Given the description of an element on the screen output the (x, y) to click on. 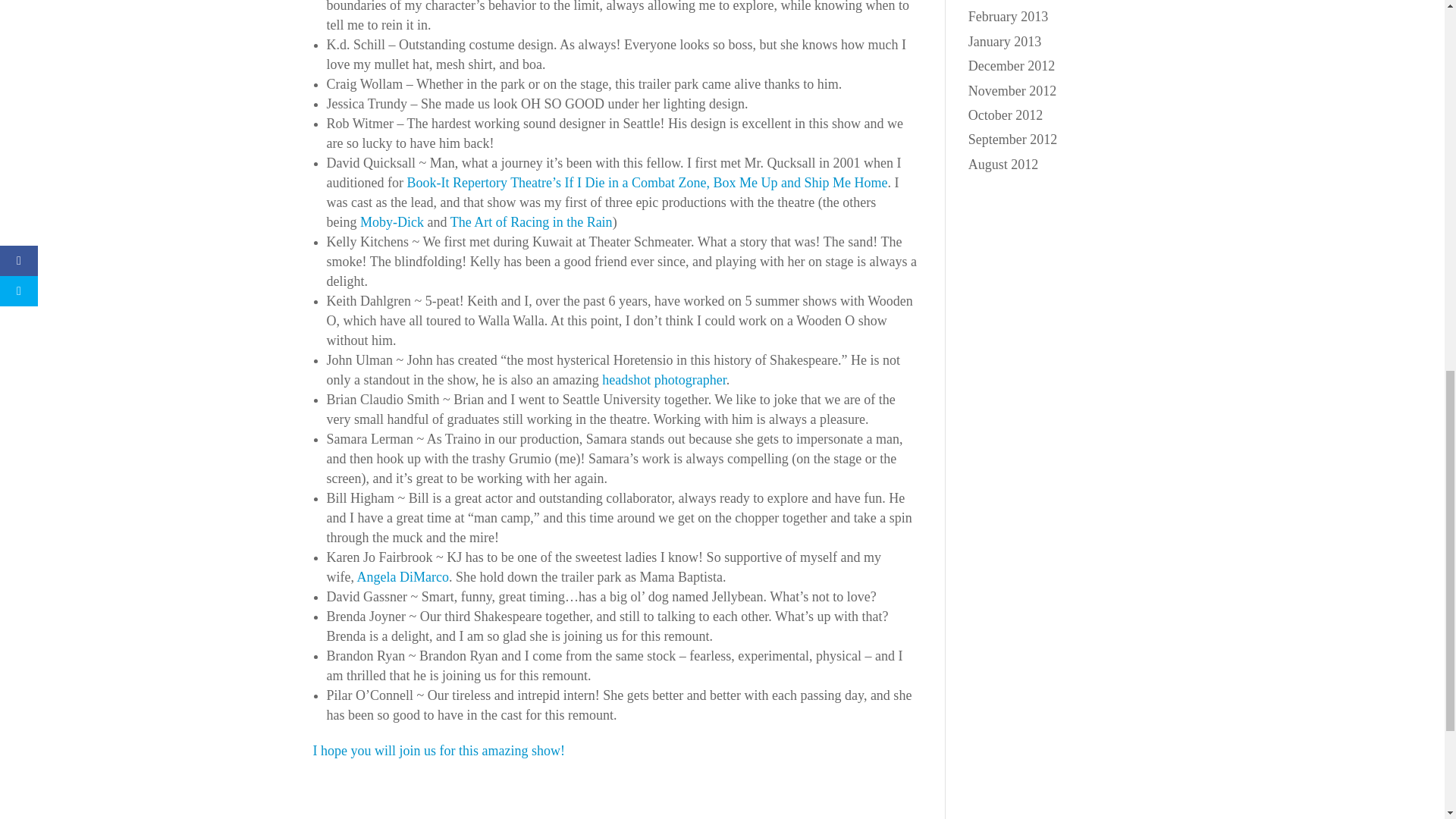
headshot photographer (663, 379)
The Art of Racing in the Rain (530, 222)
I hope you will join us for this amazing show! (438, 750)
Angela DiMarco (402, 576)
Moby-Dick (391, 222)
